Given the description of an element on the screen output the (x, y) to click on. 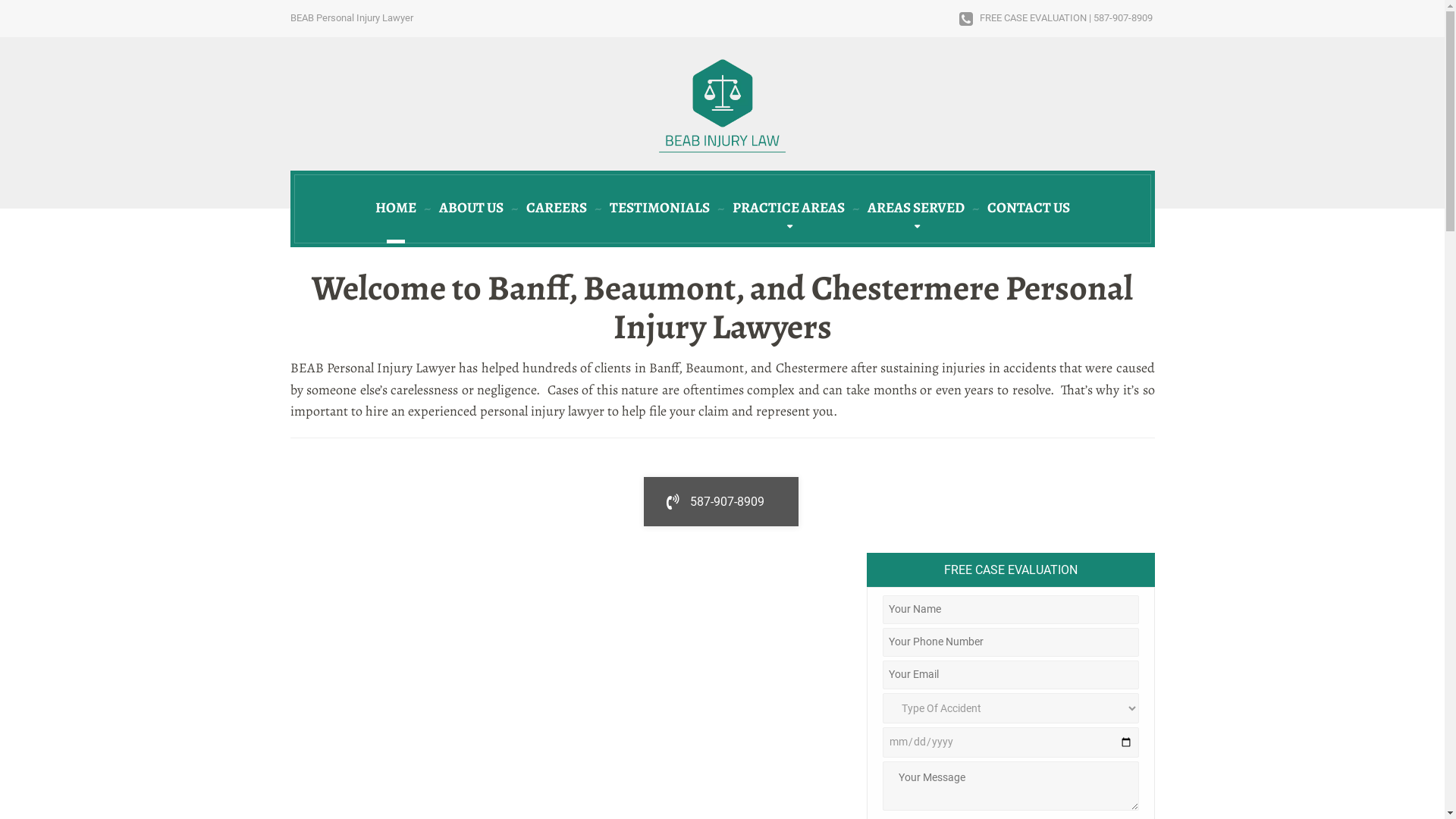
TESTIMONIALS Element type: text (658, 208)
HOME Element type: text (395, 208)
PRACTICE AREAS Element type: text (787, 208)
AREAS SERVED Element type: text (915, 208)
587-907-8909 Element type: text (720, 501)
CAREERS Element type: text (555, 208)
ABOUT US Element type: text (470, 208)
CONTACT US Element type: text (1027, 208)
FREE CASE EVALUATION | 587-907-8909 Element type: text (1056, 18)
